Given the description of an element on the screen output the (x, y) to click on. 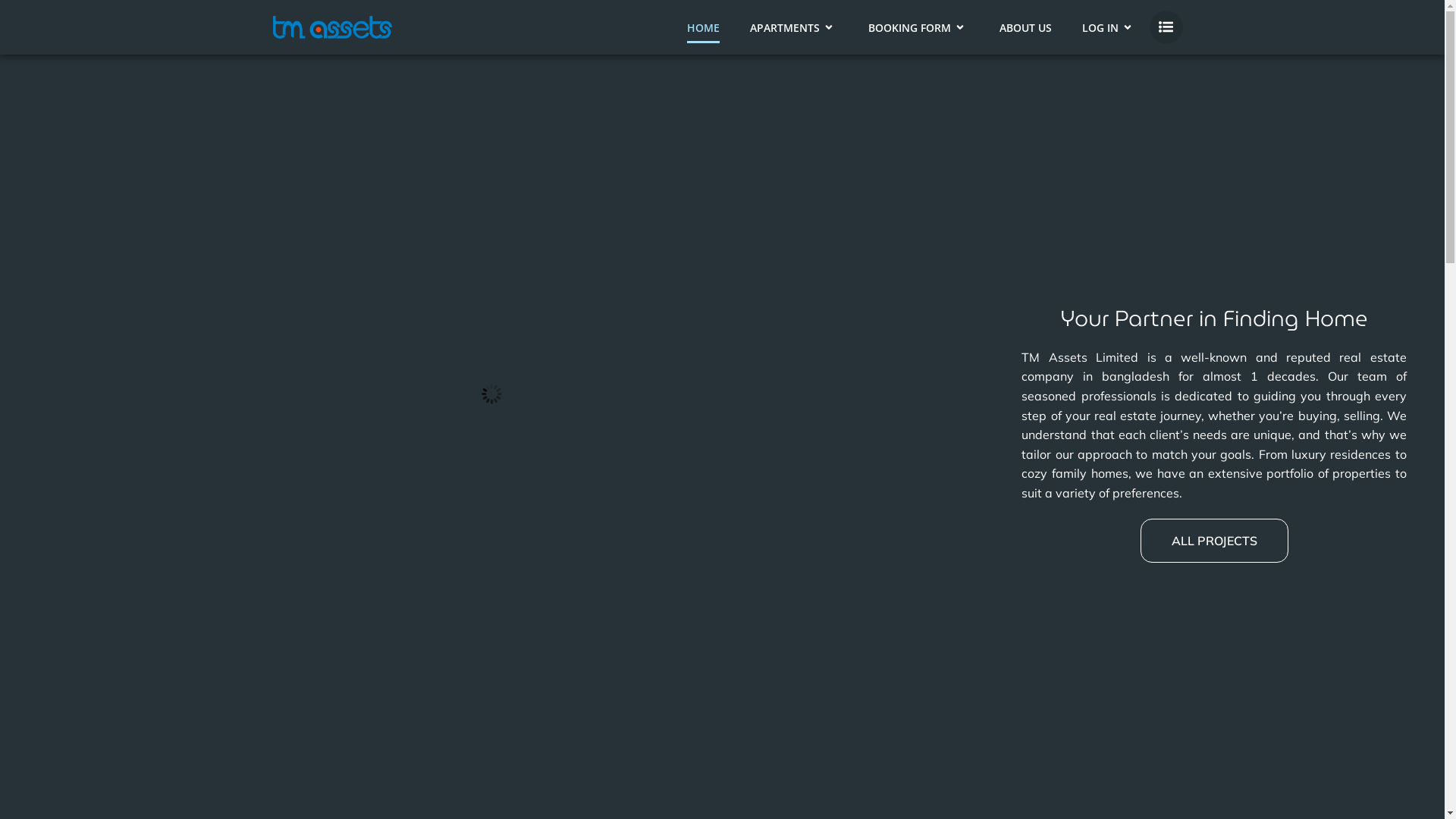
BOOKING FORM Element type: text (918, 27)
ABOUT US Element type: text (1025, 27)
LOG IN Element type: text (1109, 27)
APARTMENTS Element type: text (793, 27)
ALL PROJECTS Element type: text (1214, 540)
HOME Element type: text (703, 27)
